Given the description of an element on the screen output the (x, y) to click on. 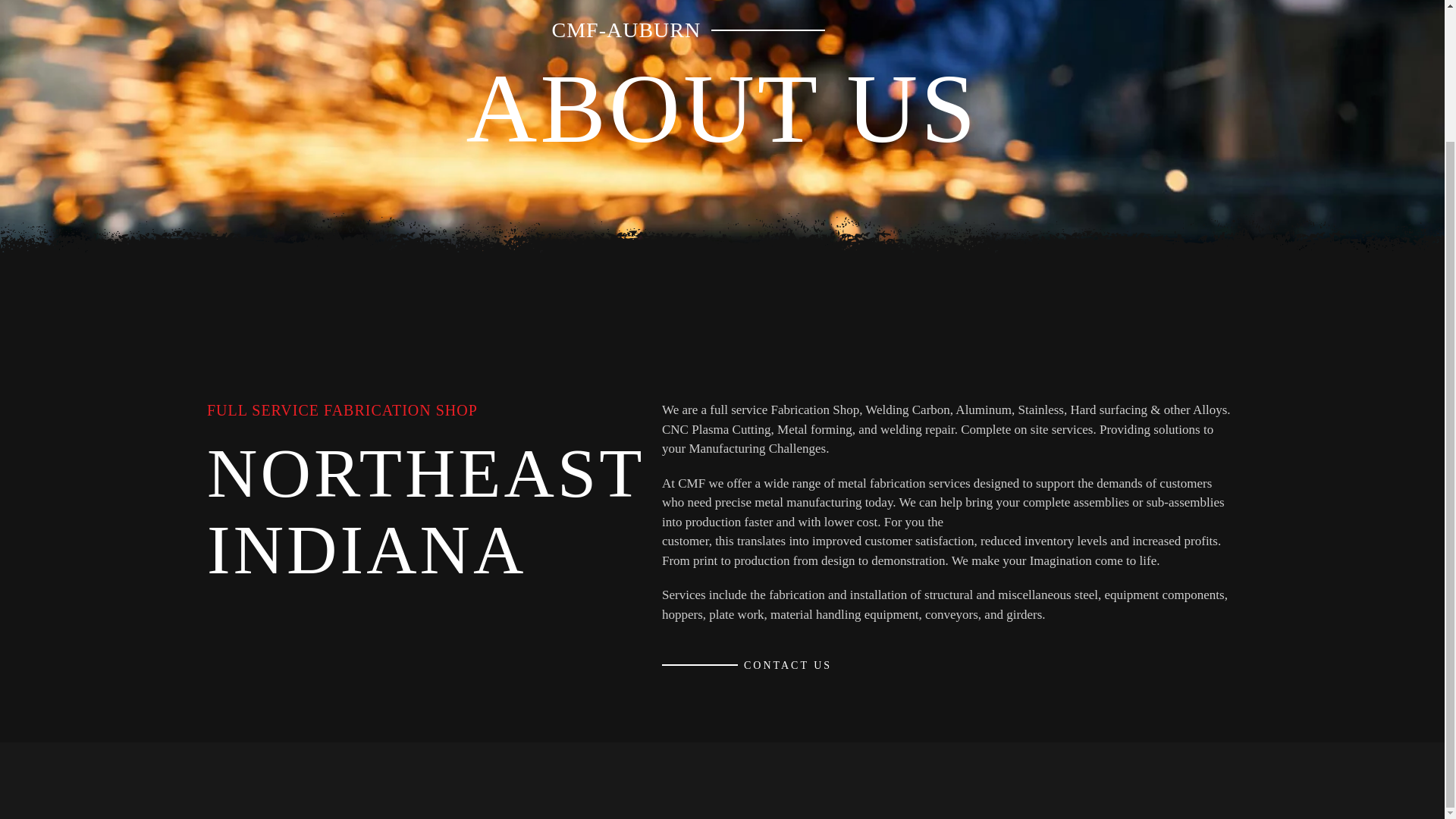
CONTACT US (746, 665)
